Given the description of an element on the screen output the (x, y) to click on. 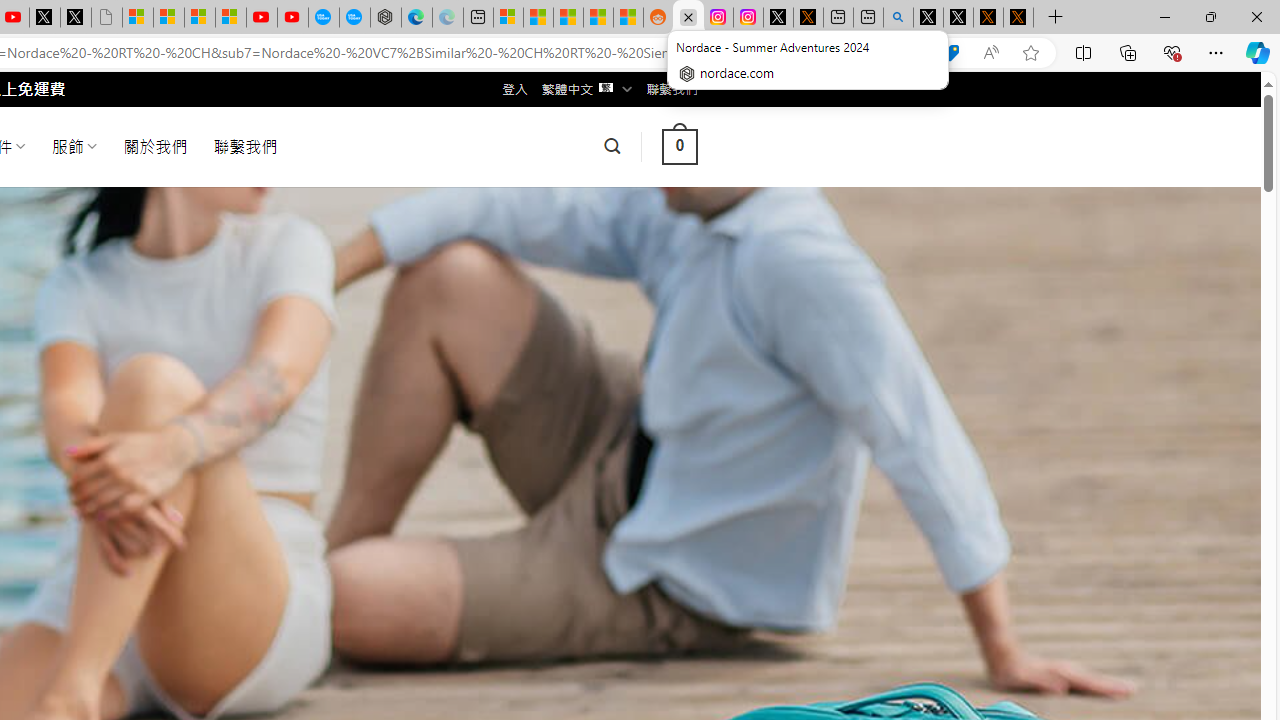
GitHub (@github) / X (957, 17)
Microsoft account | Microsoft Account Privacy Settings (508, 17)
This site has coupons! Shopping in Microsoft Edge (950, 53)
Copilot (Ctrl+Shift+.) (1258, 52)
Profile / X (928, 17)
Gloom - YouTube (261, 17)
 0  (679, 146)
Nordace - Nordace has arrived Hong Kong (385, 17)
Read aloud this page (Ctrl+Shift+U) (991, 53)
Nordace - Summer Adventures 2024 (688, 17)
